Given the description of an element on the screen output the (x, y) to click on. 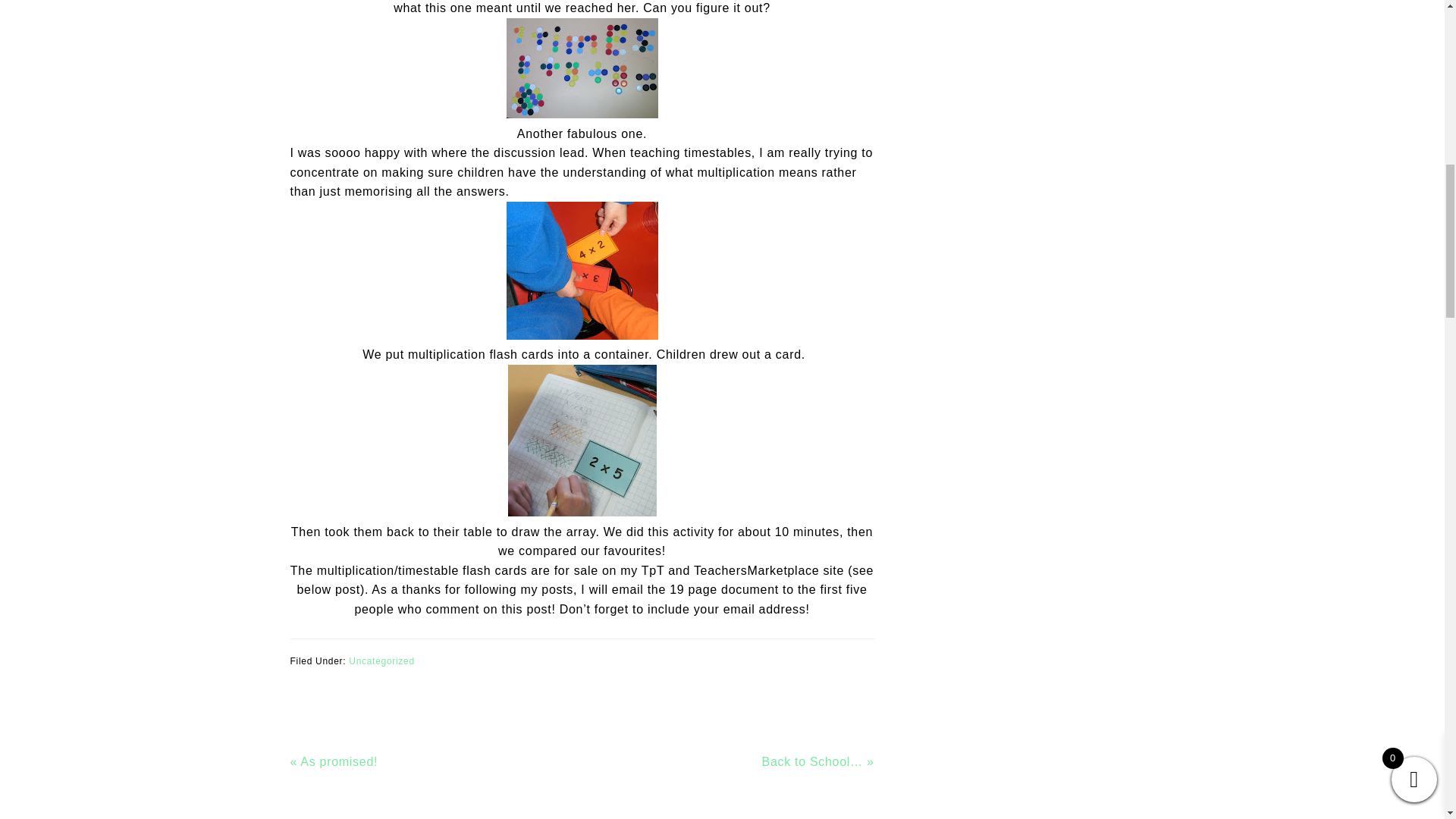
Uncategorized (381, 661)
